Given the description of an element on the screen output the (x, y) to click on. 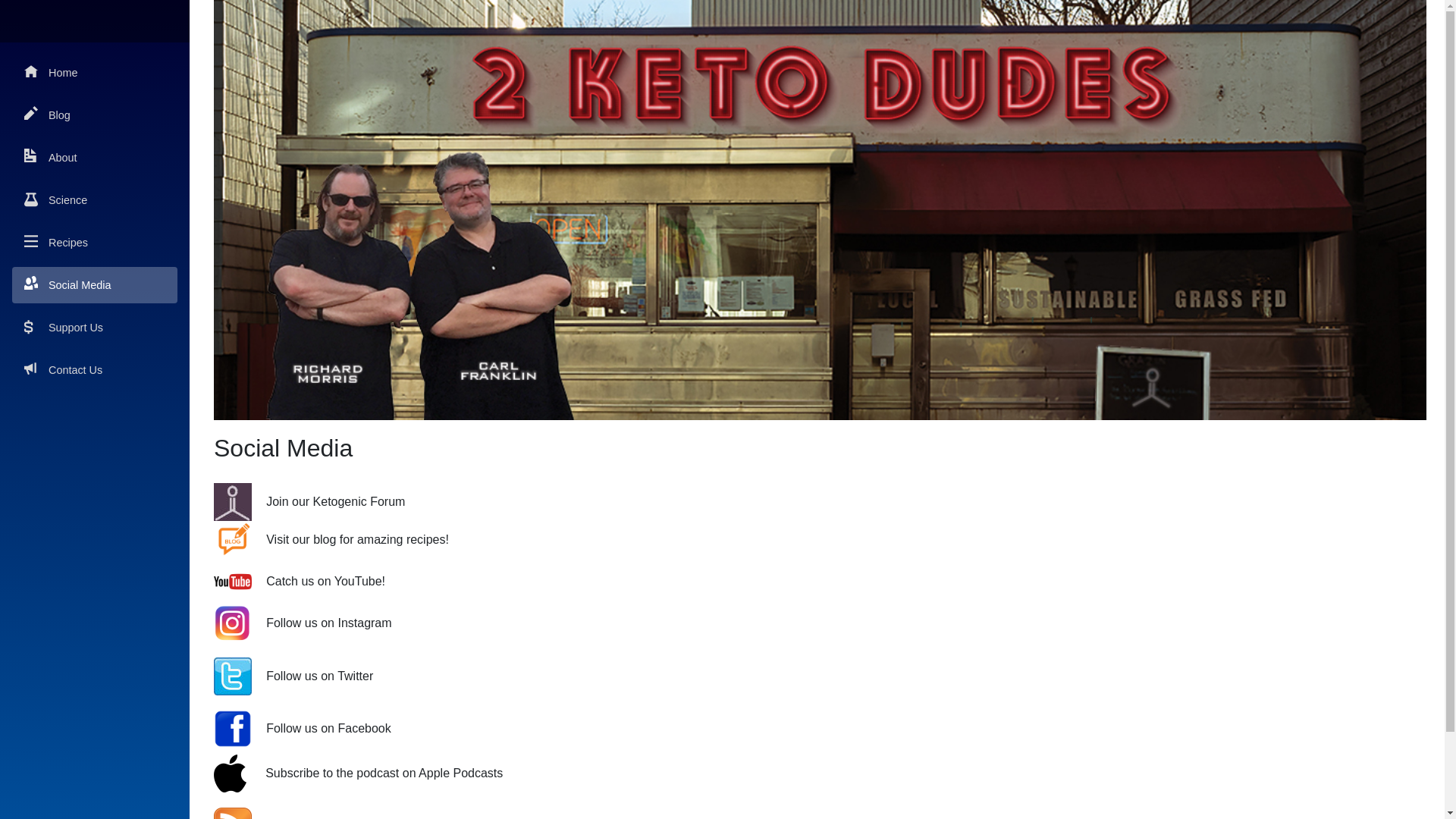
Blog Element type: text (94, 115)
Science Element type: text (94, 200)
Support Us Element type: text (94, 327)
Contact Us Element type: text (94, 369)
About Element type: text (94, 157)
Home Element type: text (94, 72)
Social Media Element type: text (94, 284)
Recipes Element type: text (94, 242)
